Given the description of an element on the screen output the (x, y) to click on. 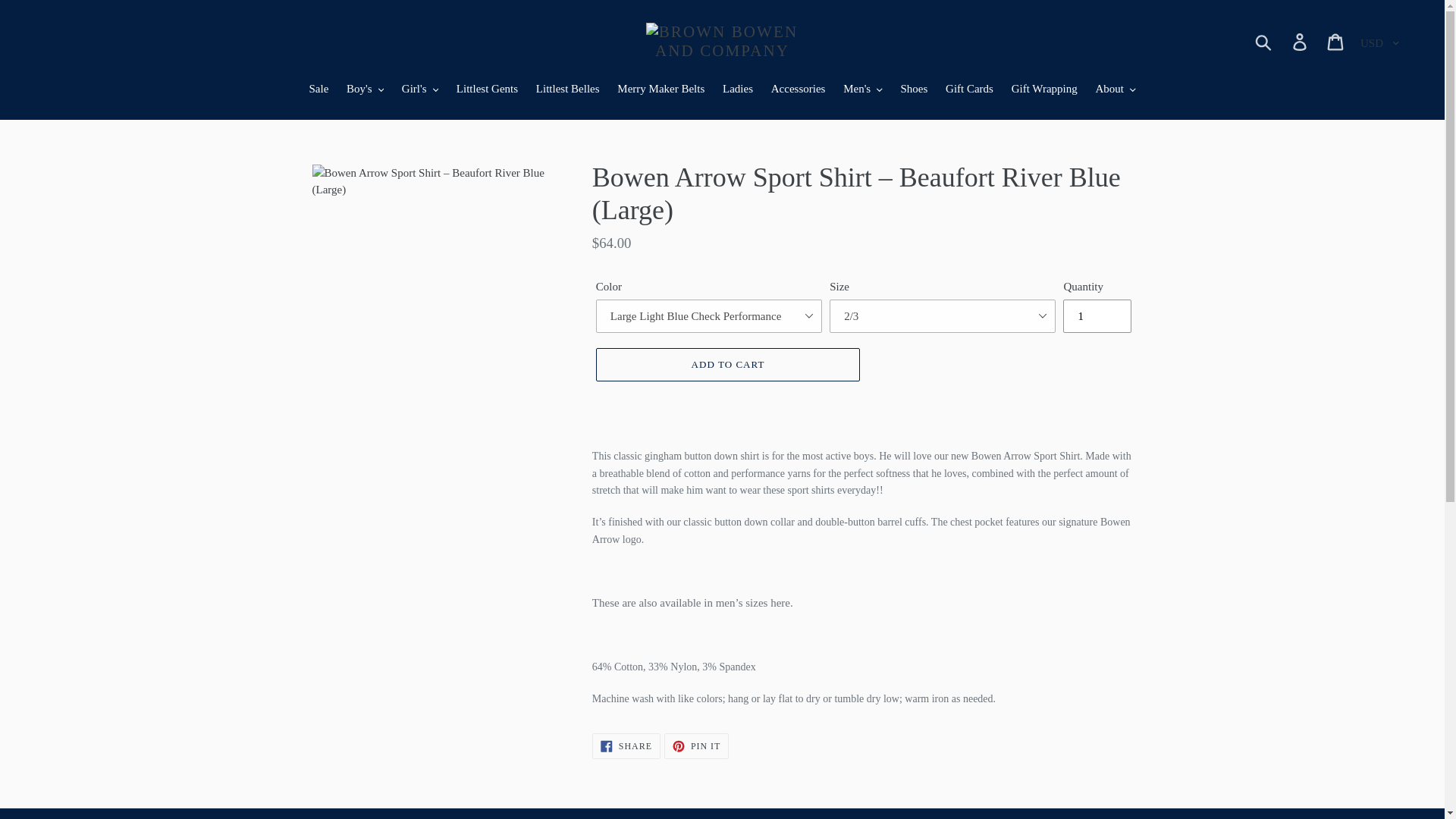
Cart (1336, 41)
Submit (1264, 41)
Log in (1300, 41)
1 (1096, 315)
